Given the description of an element on the screen output the (x, y) to click on. 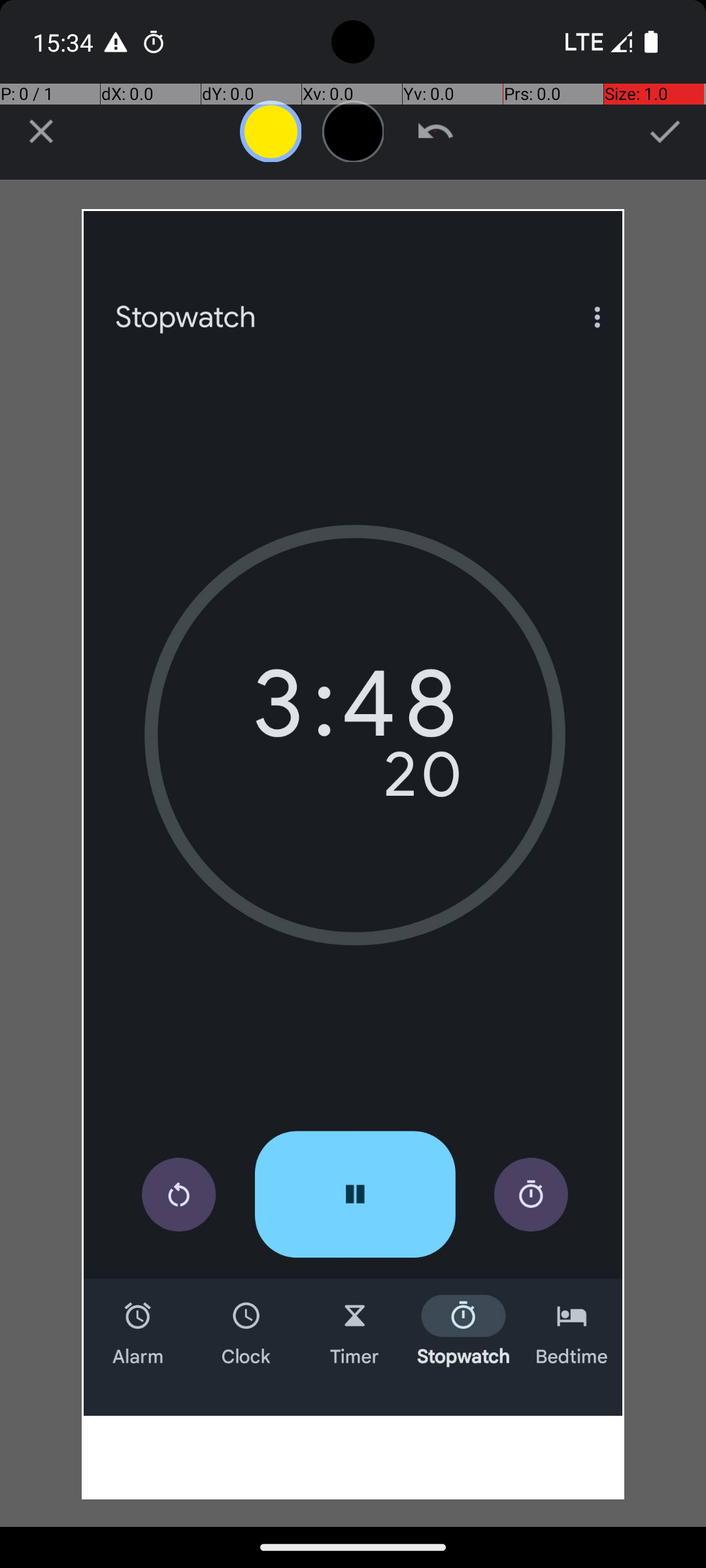
Close Element type: android.widget.ImageView (41, 131)
Highlight your issue Element type: android.widget.FrameLayout (270, 131)
Hide sensitive info Element type: android.widget.FrameLayout (352, 131)
Undo Element type: android.widget.ImageView (435, 131)
Done Element type: android.widget.ImageView (664, 131)
Phone one bar. Element type: android.widget.FrameLayout (595, 41)
